Given the description of an element on the screen output the (x, y) to click on. 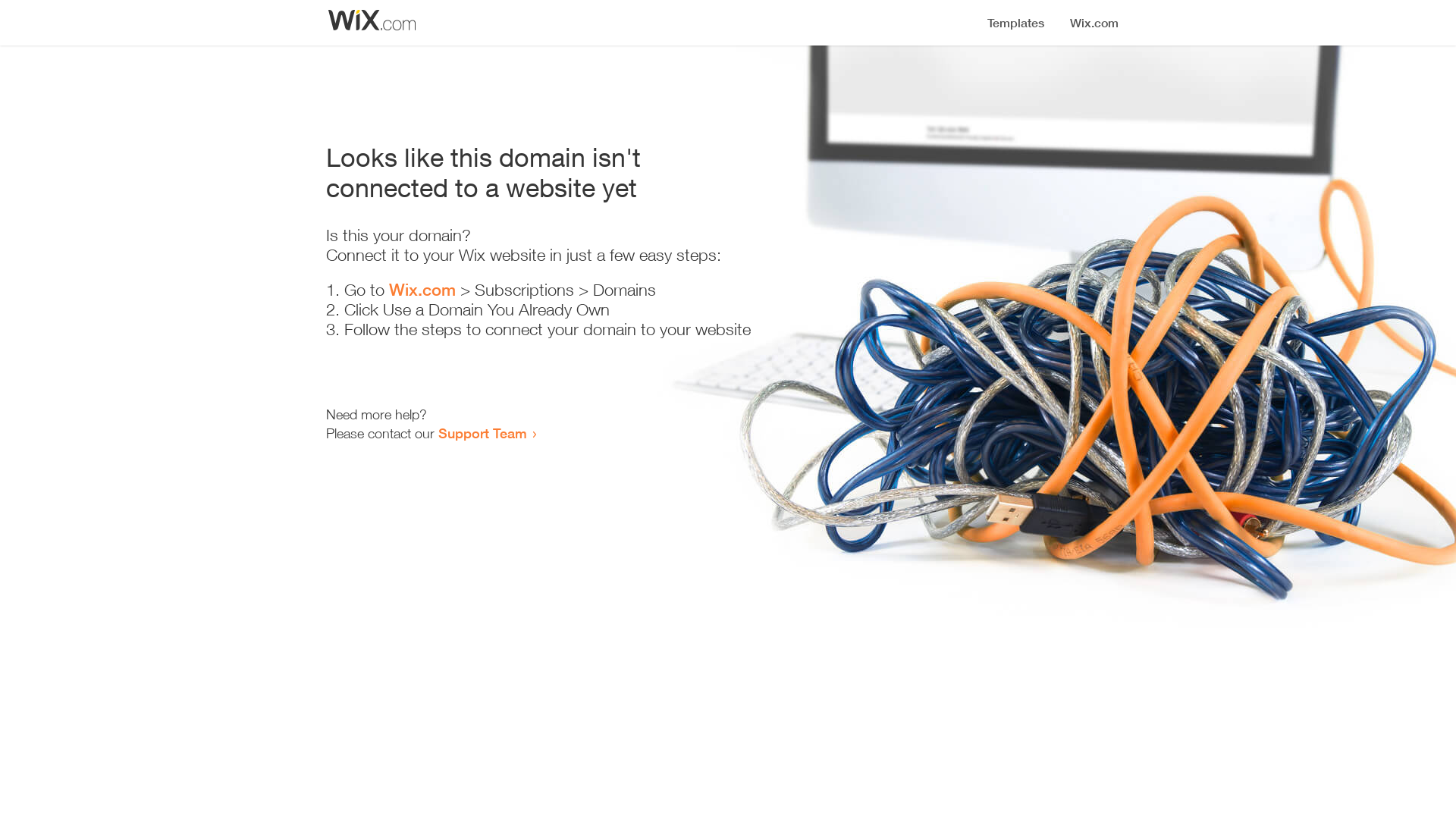
Wix.com Element type: text (422, 289)
Support Team Element type: text (482, 432)
